Given the description of an element on the screen output the (x, y) to click on. 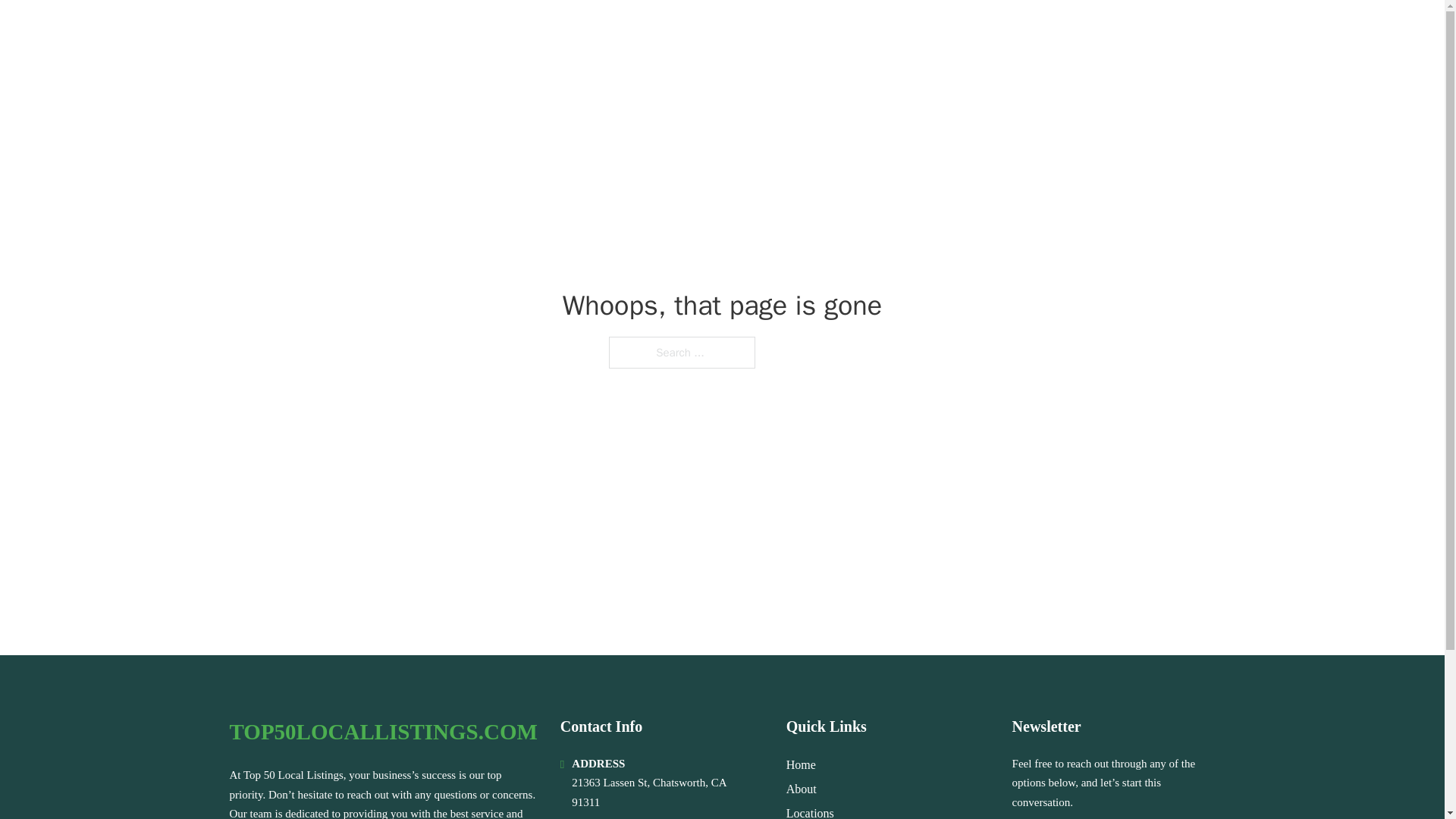
TOP50LOCALLISTINGS.COM (382, 732)
About (801, 788)
Locations (810, 811)
HOME (1002, 31)
LOCATIONS (1075, 31)
Home (800, 764)
TOP50LOCALLISTINGS.COM (398, 31)
